Given the description of an element on the screen output the (x, y) to click on. 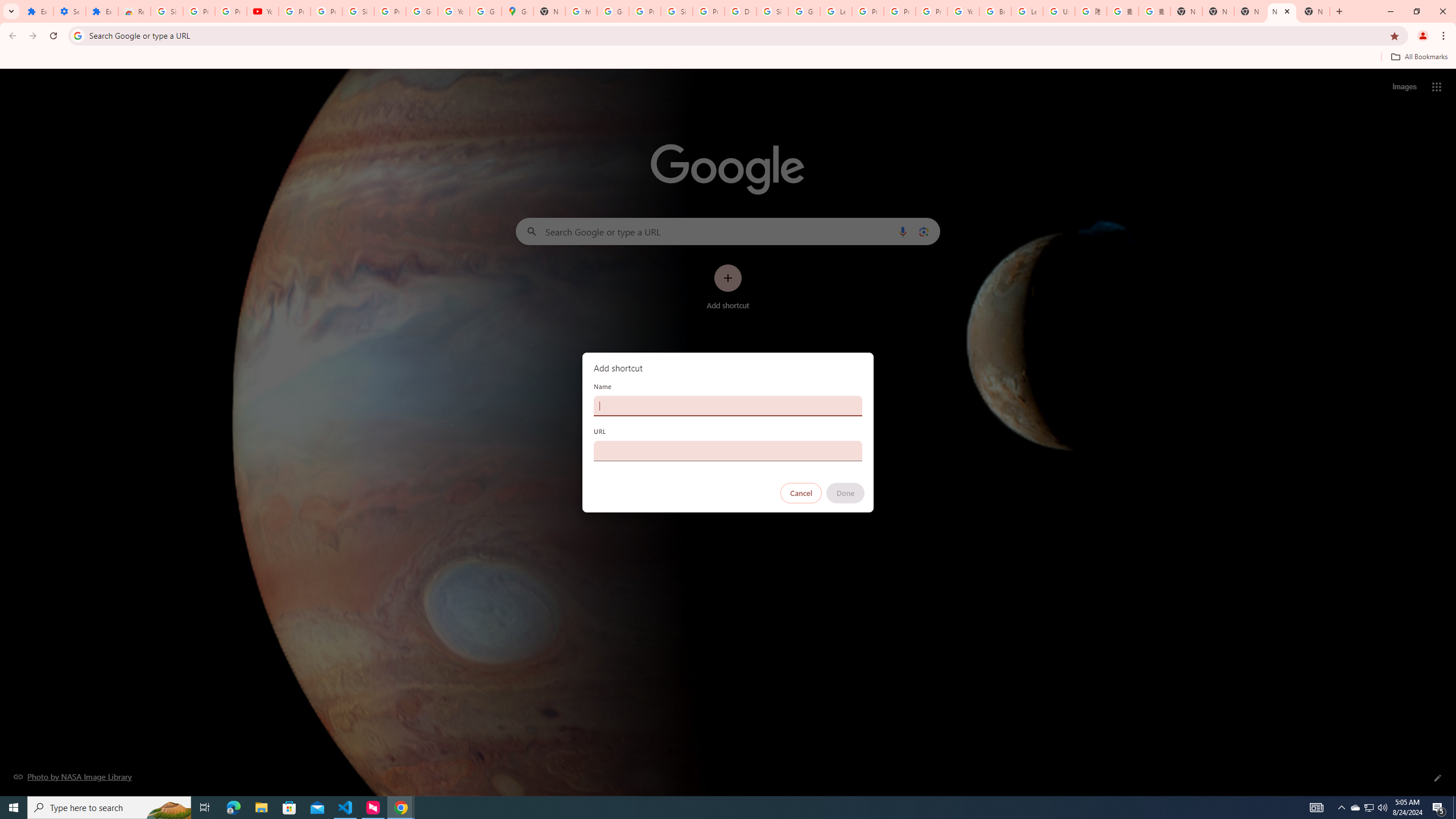
Name (727, 405)
New Tab (1185, 11)
Sign in - Google Accounts (676, 11)
Sign in - Google Accounts (358, 11)
https://scholar.google.com/ (581, 11)
